Given the description of an element on the screen output the (x, y) to click on. 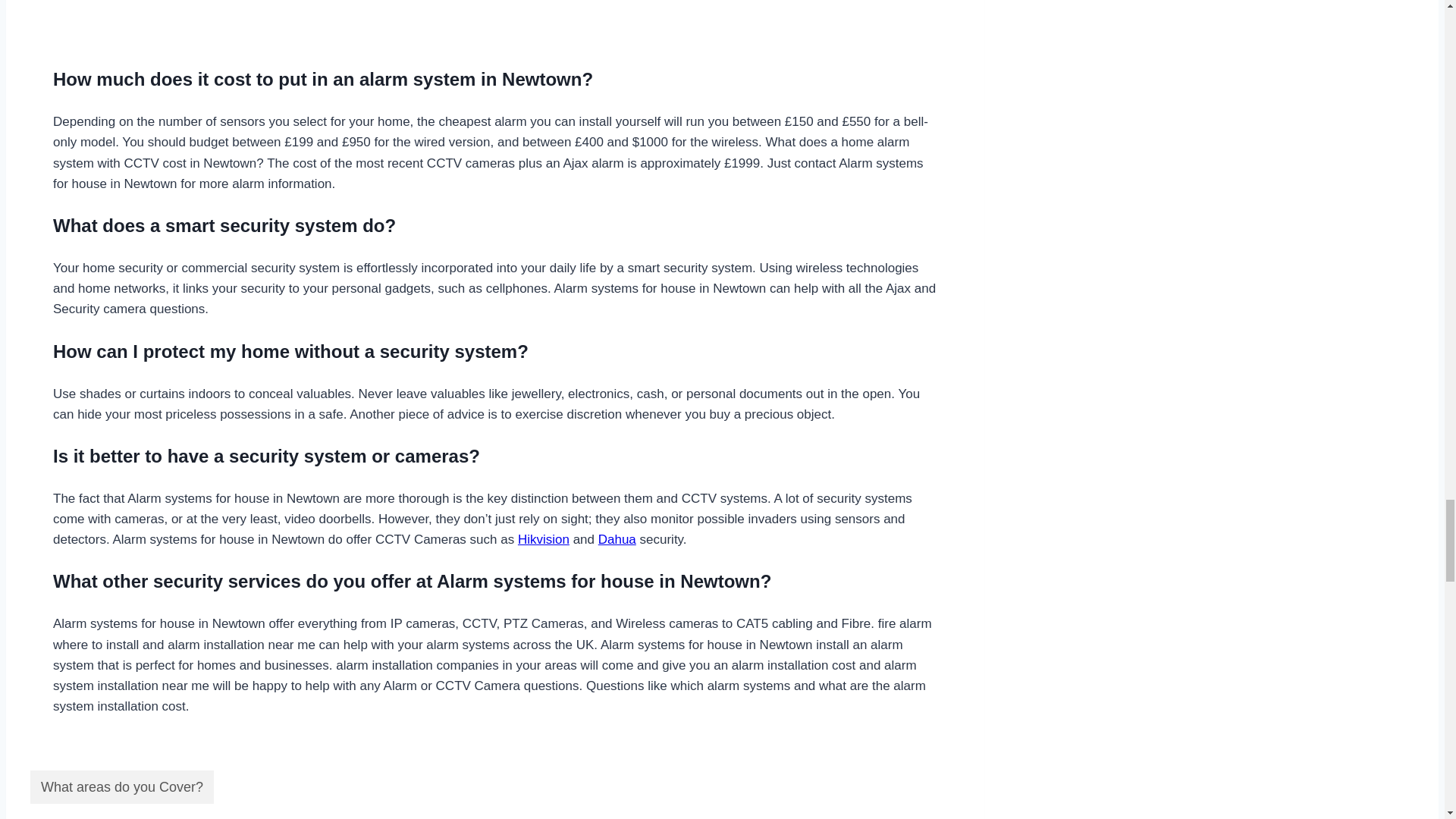
Dahua (617, 539)
Hikvision (543, 539)
What areas do you Cover? (122, 786)
